Given the description of an element on the screen output the (x, y) to click on. 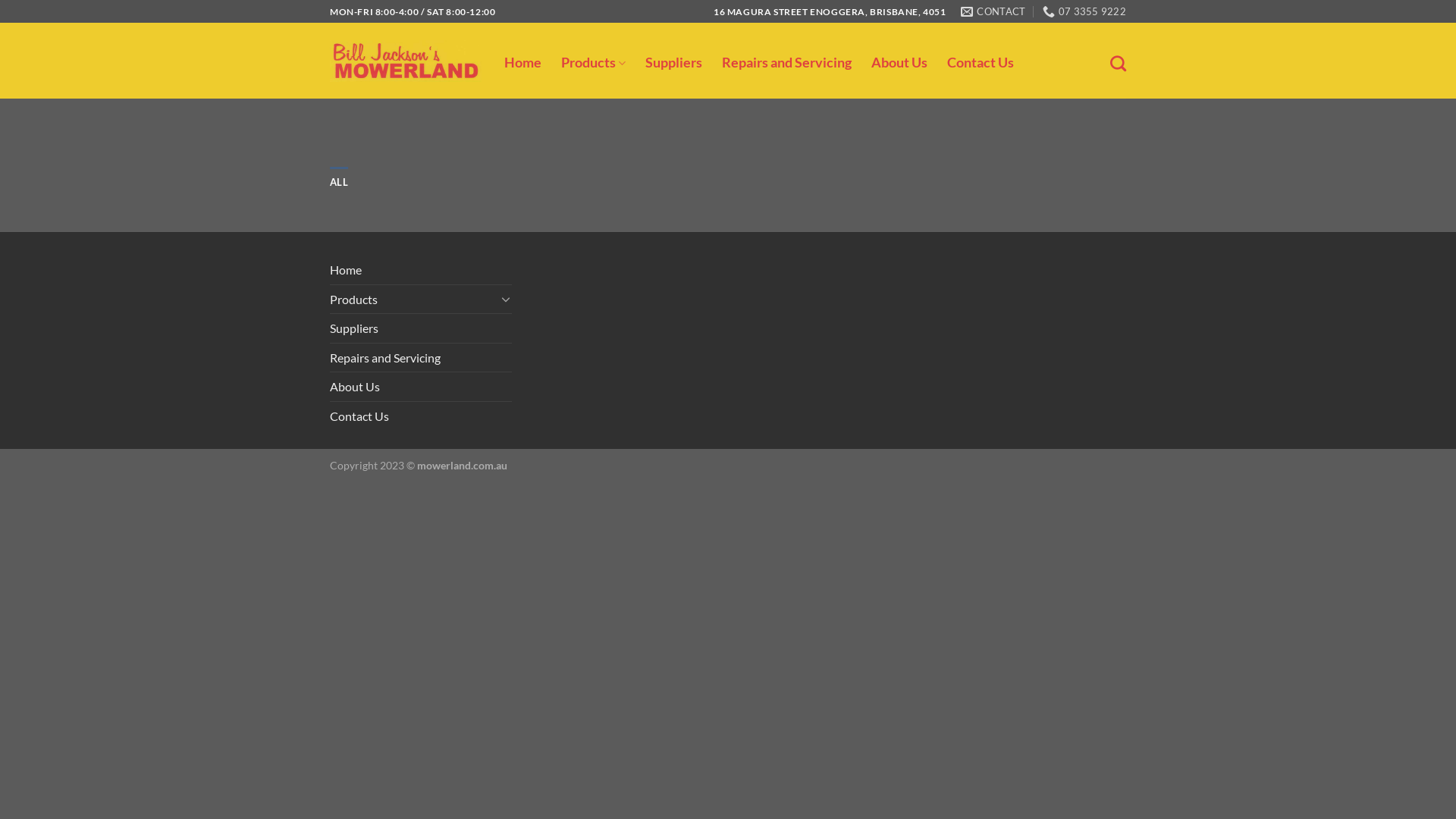
Contact Us Element type: text (980, 62)
Home Element type: text (345, 269)
07 3355 9222 Element type: text (1084, 11)
About Us Element type: text (899, 62)
ALL Element type: text (338, 181)
Products Element type: text (593, 63)
Repairs and Servicing Element type: text (384, 357)
CONTACT Element type: text (992, 11)
Mowerland - Brisbane mower specialists Element type: hover (405, 60)
Home Element type: text (522, 62)
Repairs and Servicing Element type: text (786, 62)
About Us Element type: text (354, 386)
Suppliers Element type: text (673, 62)
Suppliers Element type: text (353, 327)
Contact Us Element type: text (359, 415)
Products Element type: text (412, 299)
